Given the description of an element on the screen output the (x, y) to click on. 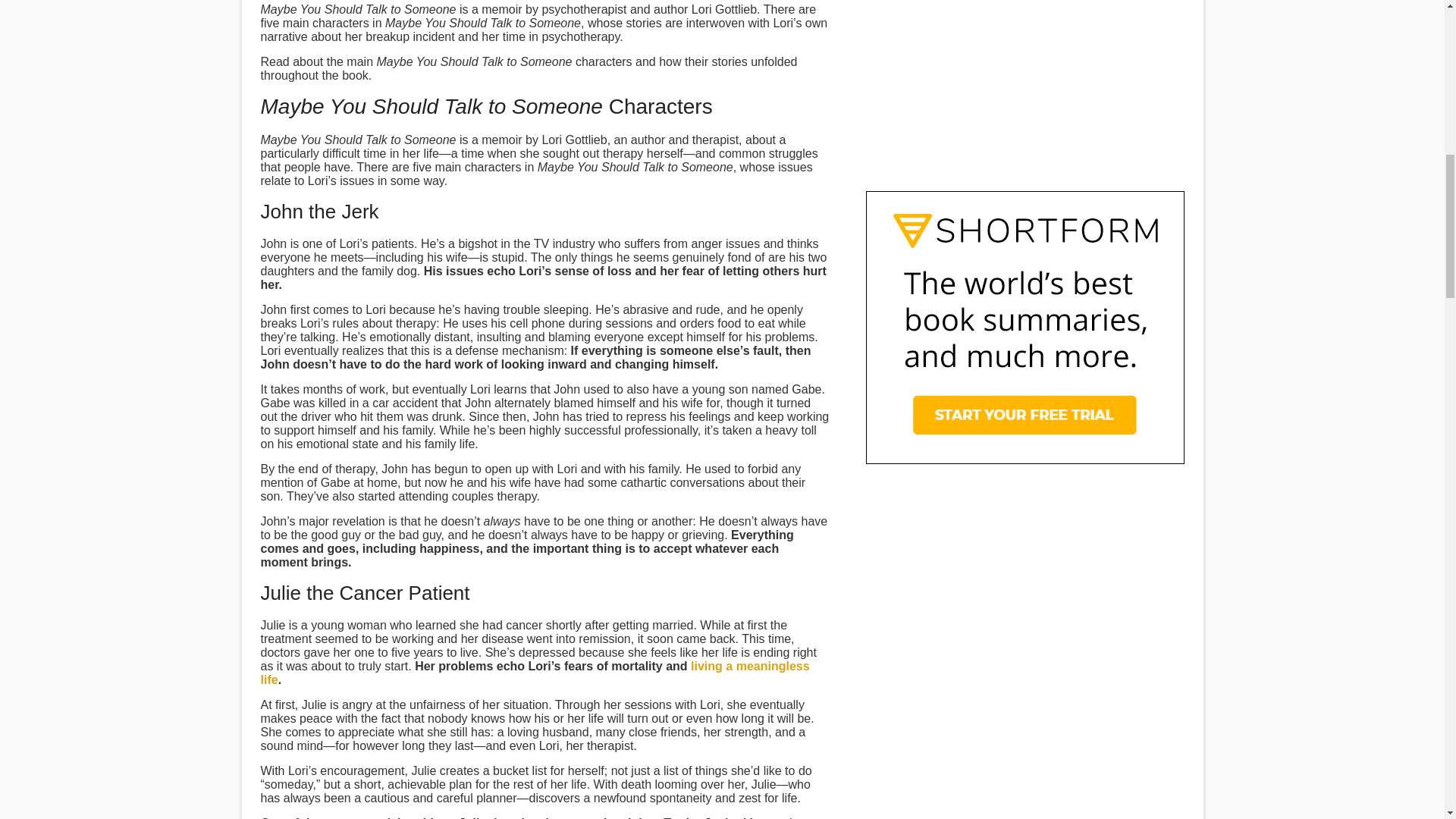
living a meaningless life (534, 673)
